Given the description of an element on the screen output the (x, y) to click on. 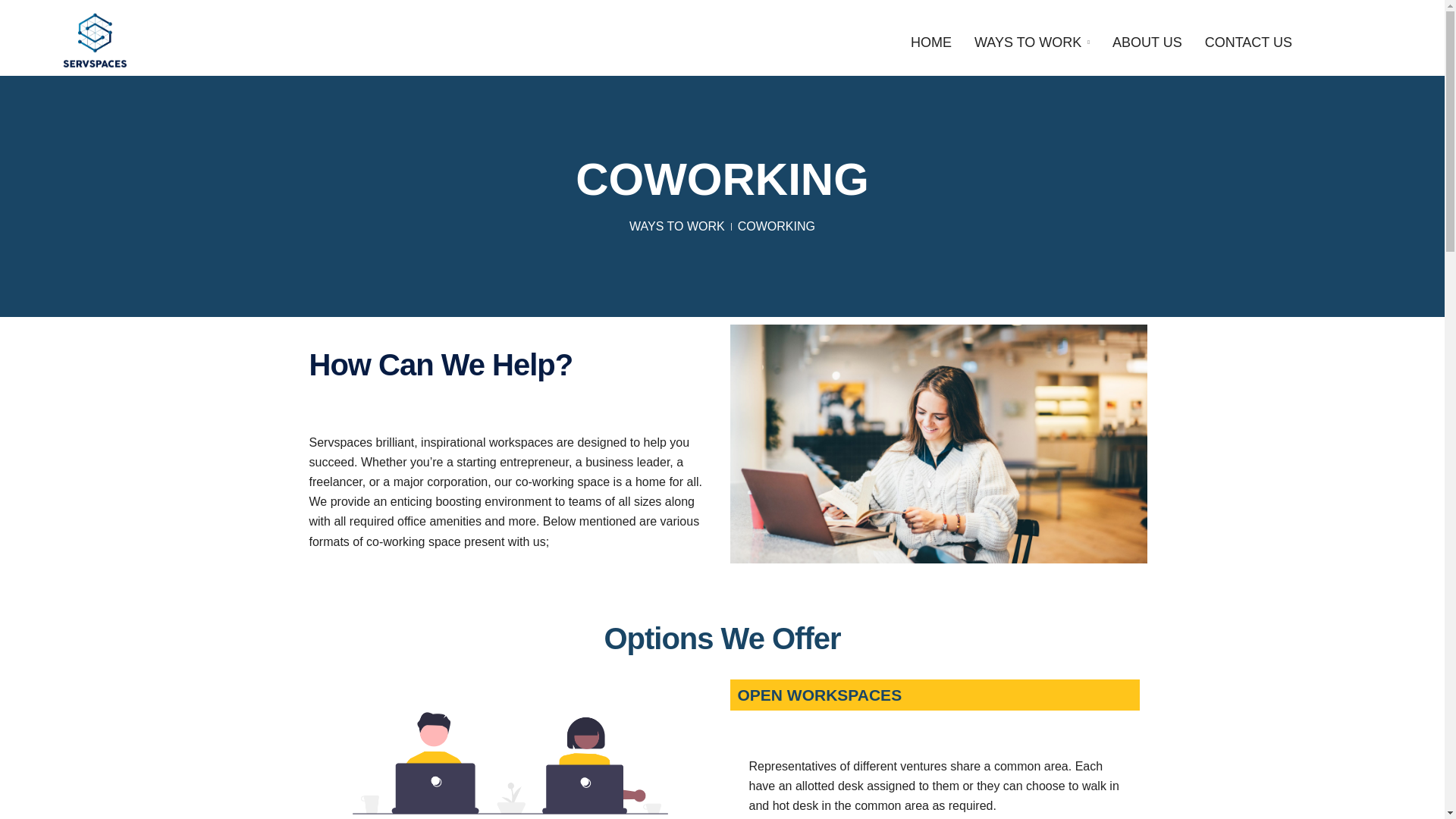
WAYS TO WORK (1031, 42)
ABOUT US (1147, 42)
CONTACT US (1248, 42)
HOME (931, 42)
